Given the description of an element on the screen output the (x, y) to click on. 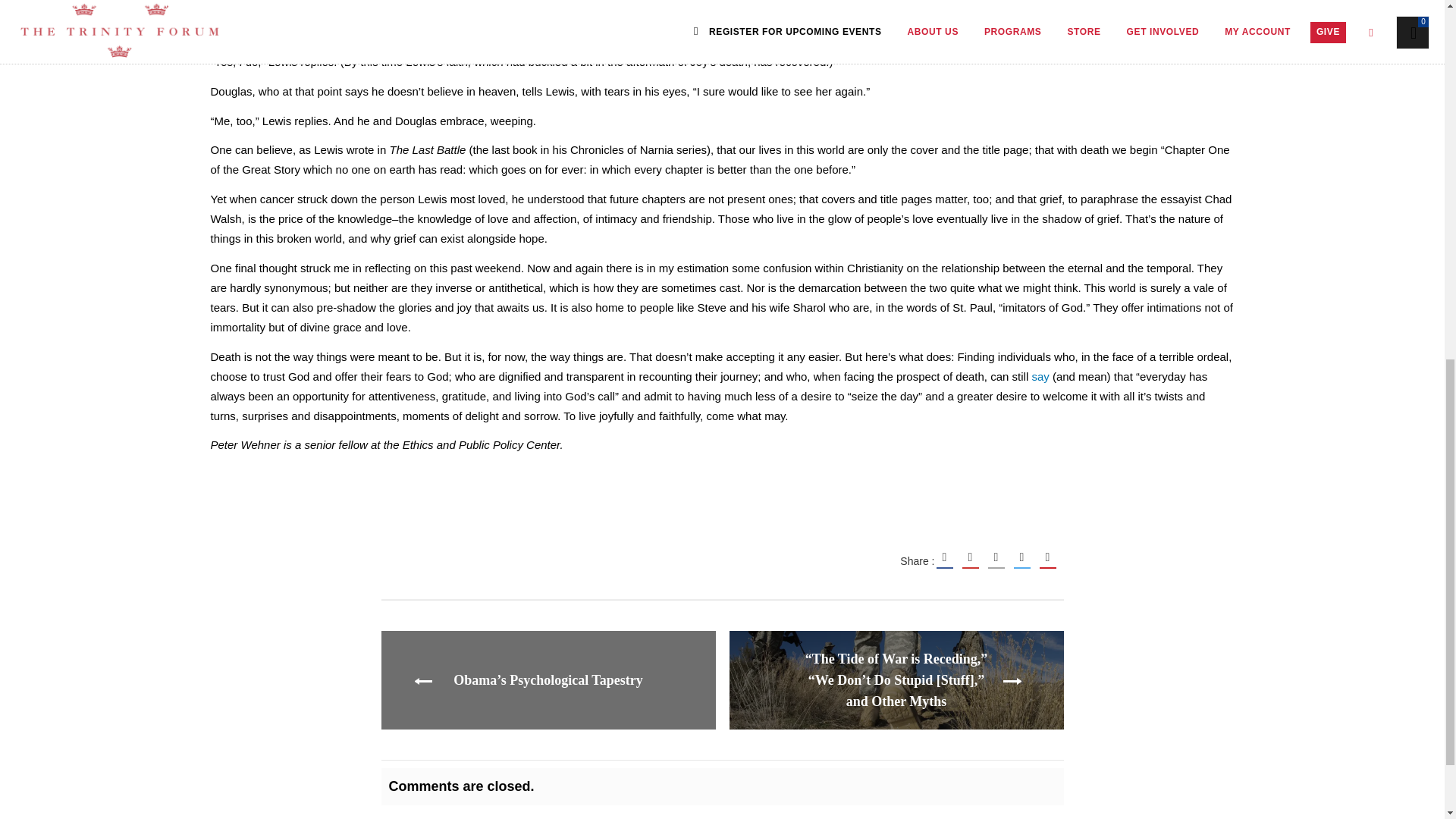
Newer Posts (896, 679)
Older Posts (547, 679)
